Given the description of an element on the screen output the (x, y) to click on. 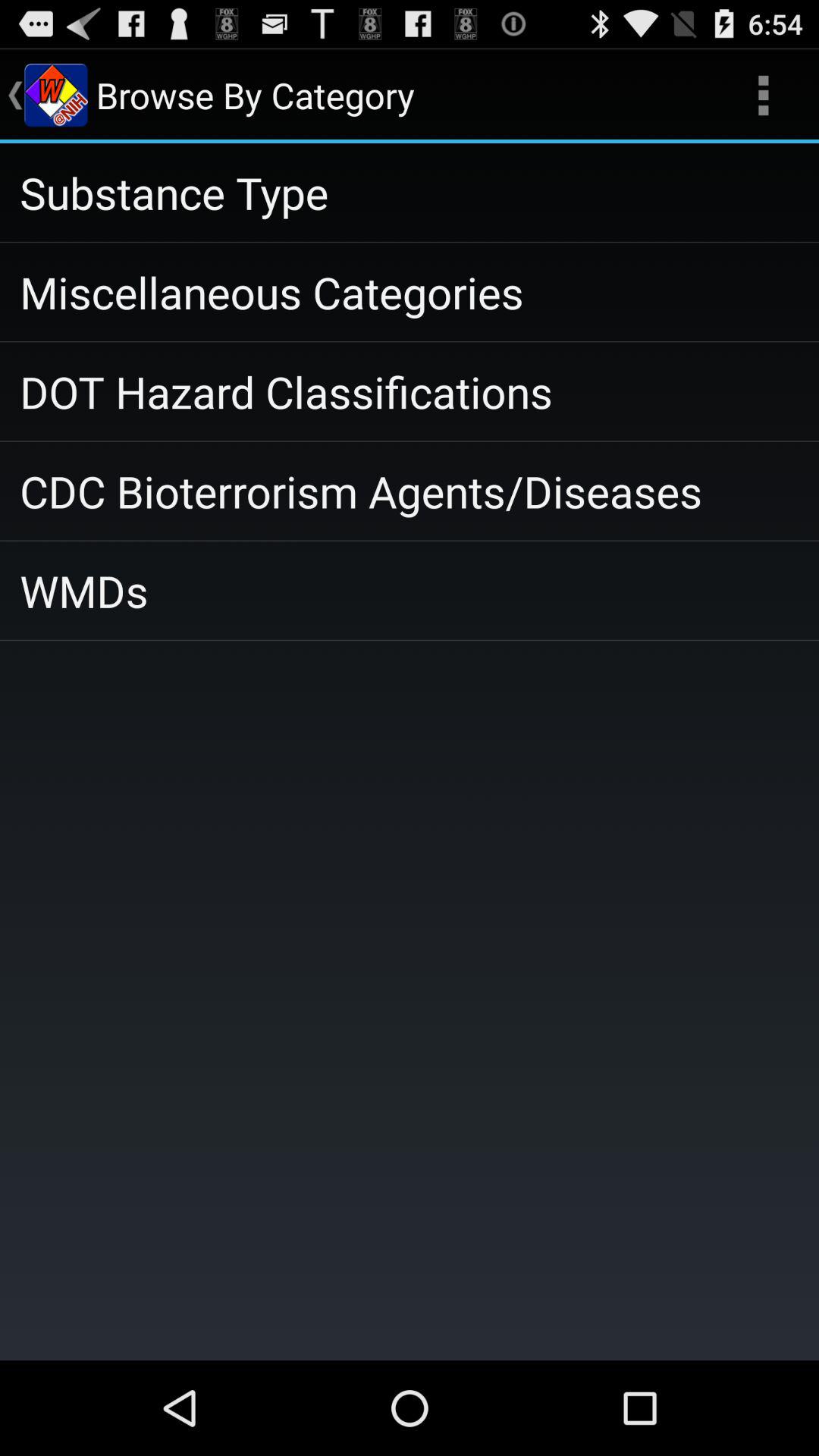
press app above the substance type (763, 95)
